Given the description of an element on the screen output the (x, y) to click on. 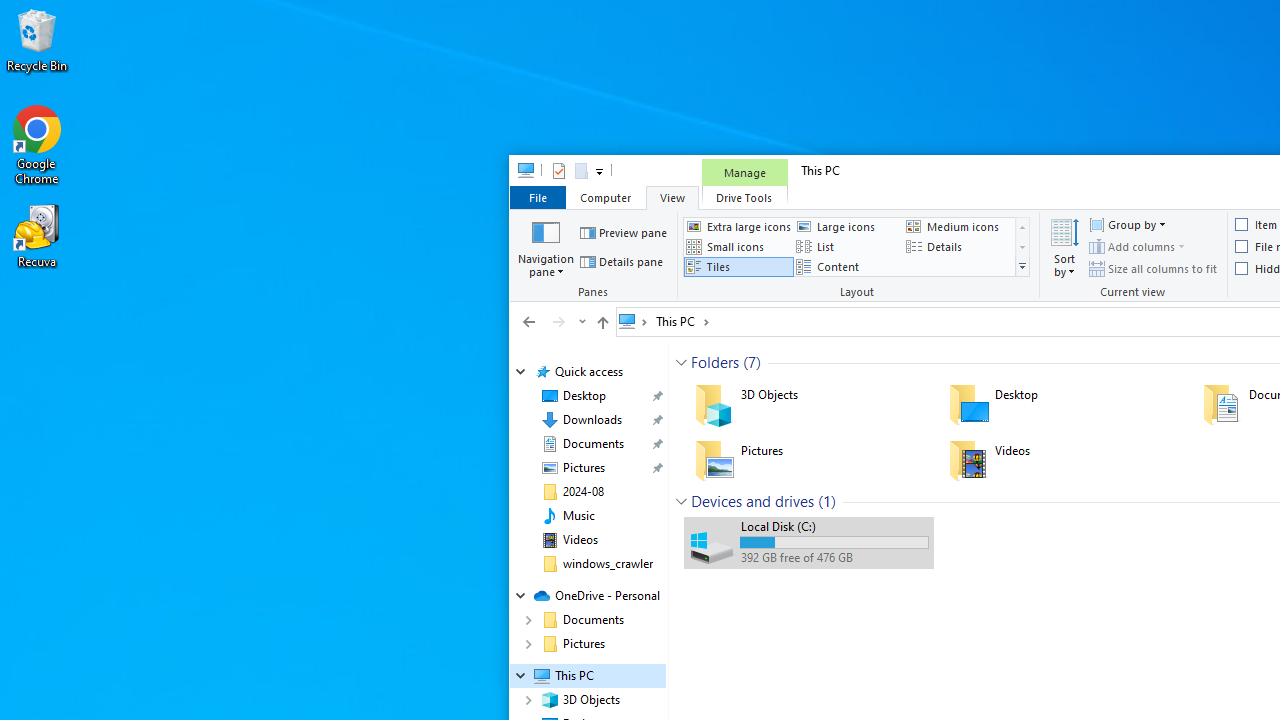
Up band toolbar (602, 325)
Customize Quick Access Toolbar (598, 170)
Navigation pane (546, 246)
Recent locations (580, 321)
Count (827, 501)
Available space (834, 557)
Navigation buttons (552, 321)
View (672, 196)
Name (834, 526)
Desktop (1062, 403)
Size all columns to fit (1153, 268)
Manage (744, 172)
Row down (1022, 247)
Content (848, 267)
New folder (580, 169)
